Given the description of an element on the screen output the (x, y) to click on. 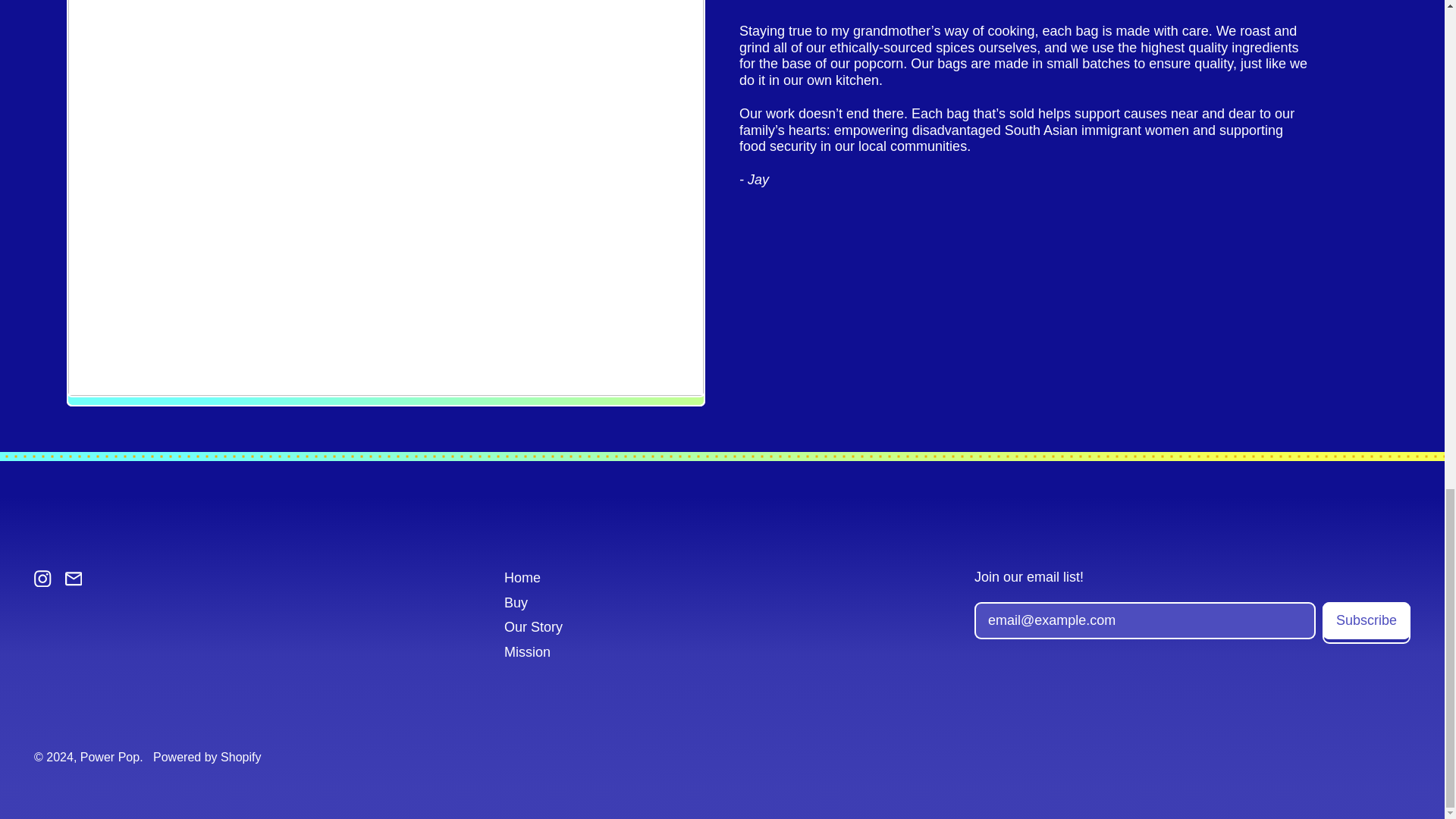
Buy (515, 602)
Home (521, 577)
Instagram (41, 581)
Mission (526, 652)
Power Pop (109, 756)
Email (73, 581)
Powered by Shopify (206, 756)
Our Story (532, 626)
Subscribe (1366, 620)
